Given the description of an element on the screen output the (x, y) to click on. 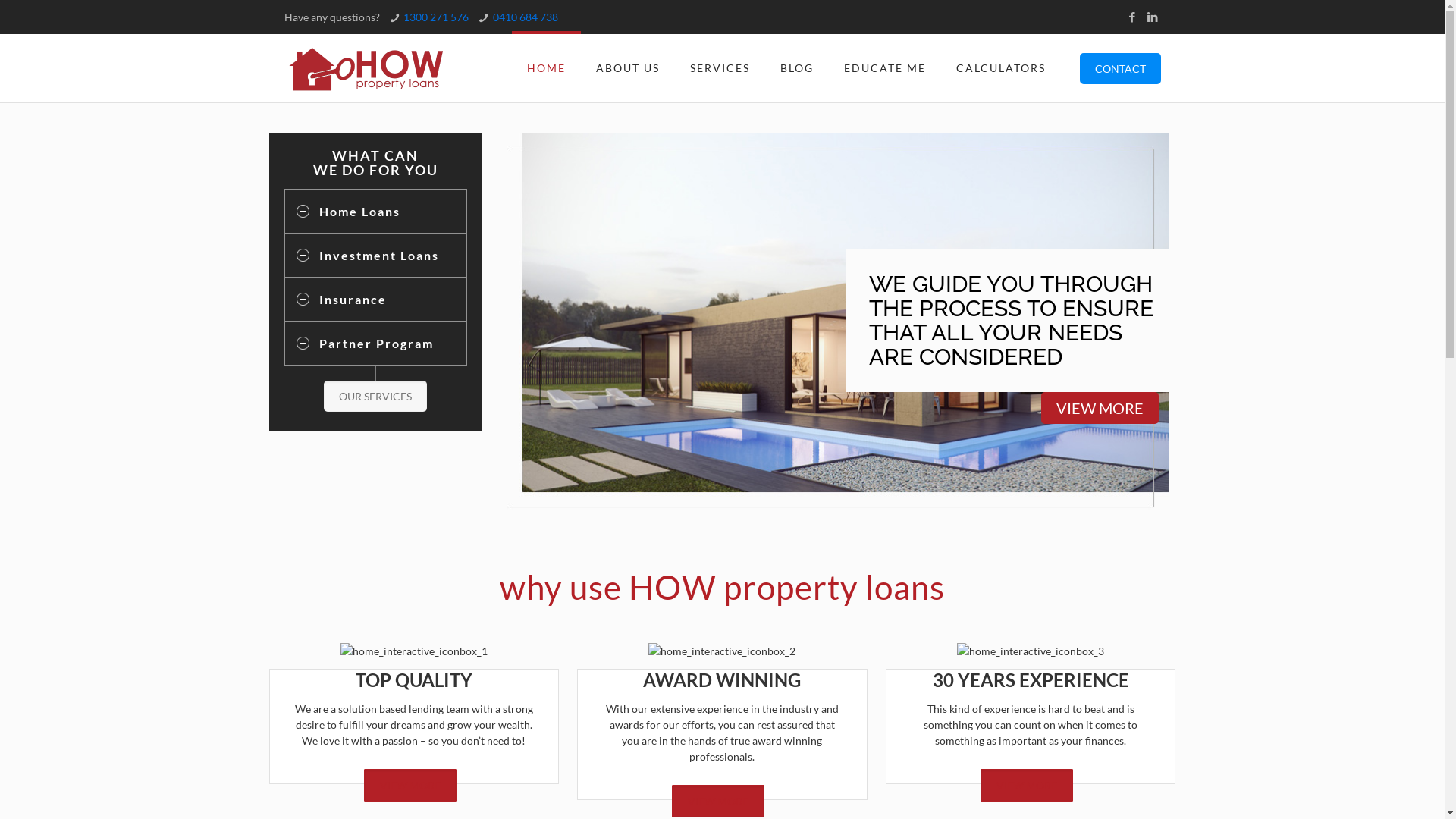
Facebook Element type: hover (1131, 16)
EDUCATE ME Element type: text (884, 68)
VIEW MORE Element type: text (410, 784)
SERVICES Element type: text (719, 68)
CALCULATORS Element type: text (1000, 68)
OUR SERVICES Element type: text (374, 395)
VIEW MORE Element type: text (1098, 407)
BLOG Element type: text (796, 68)
LinkedIn Element type: hover (1153, 16)
CONTACT Element type: text (1120, 68)
1300 271 576 Element type: text (435, 16)
HOME Element type: text (545, 68)
Partner Program Element type: text (374, 342)
Home Loans Element type: text (374, 210)
Investment Loans Element type: text (374, 254)
VIEW MORE Element type: text (717, 800)
How Property Loans Element type: hover (365, 68)
ABOUT US Element type: text (627, 68)
VIEW MORE Element type: text (1026, 784)
0410 684 738 Element type: text (525, 16)
Insurance Element type: text (374, 298)
